Given the description of an element on the screen output the (x, y) to click on. 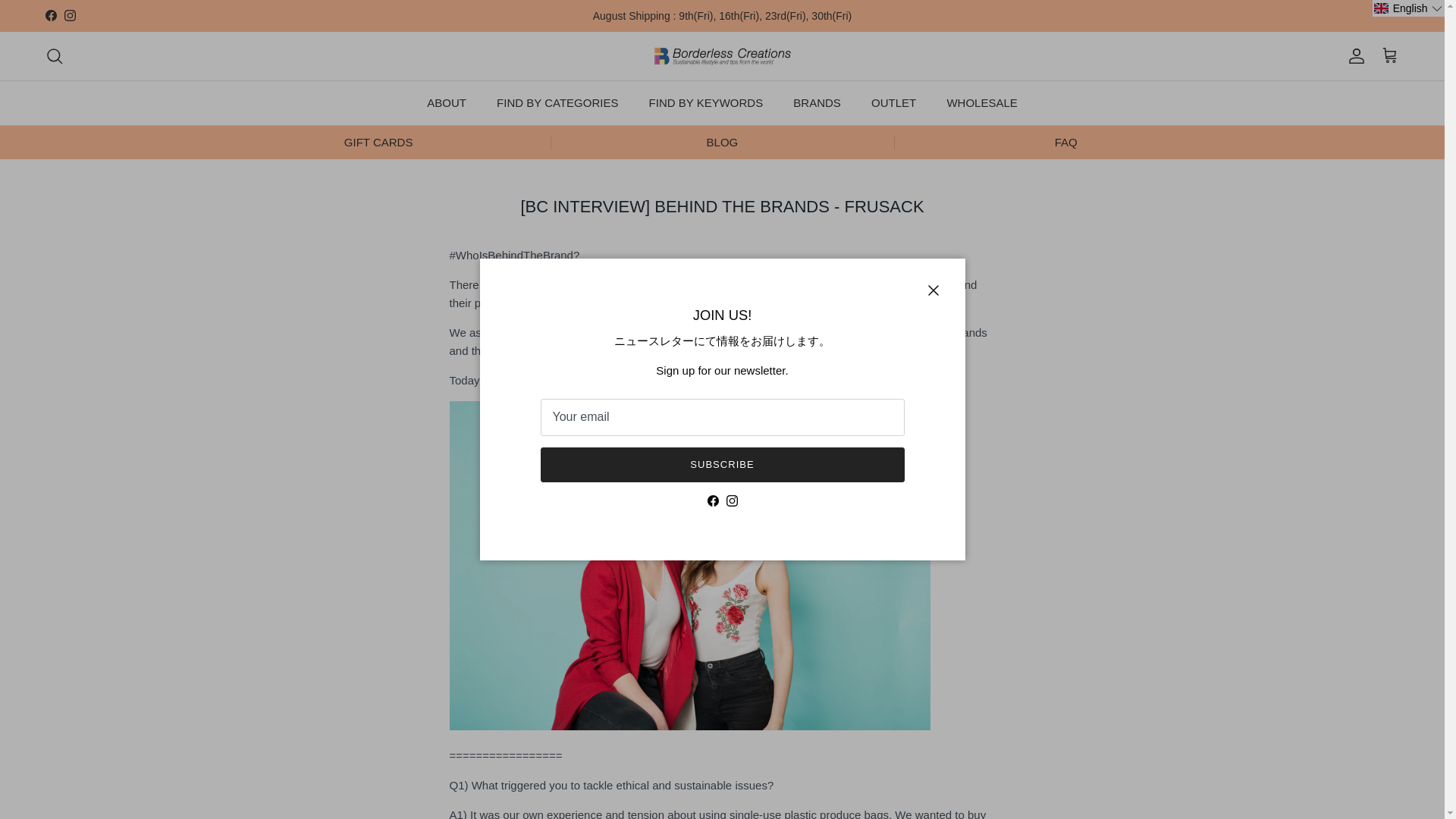
Borderless Creations on Facebook (50, 15)
WHOLESALE (981, 103)
Instagram (69, 15)
Borderless Creations on Instagram (732, 500)
Search (54, 55)
OUTLET (893, 103)
FIND BY CATEGORIES (557, 103)
BRANDS (816, 103)
Facebook (50, 15)
ABOUT (446, 103)
FIND BY KEYWORDS (705, 103)
Borderless Creations (721, 55)
Borderless Creations on Facebook (711, 500)
Borderless Creations on Instagram (69, 15)
Account (1352, 55)
